Given the description of an element on the screen output the (x, y) to click on. 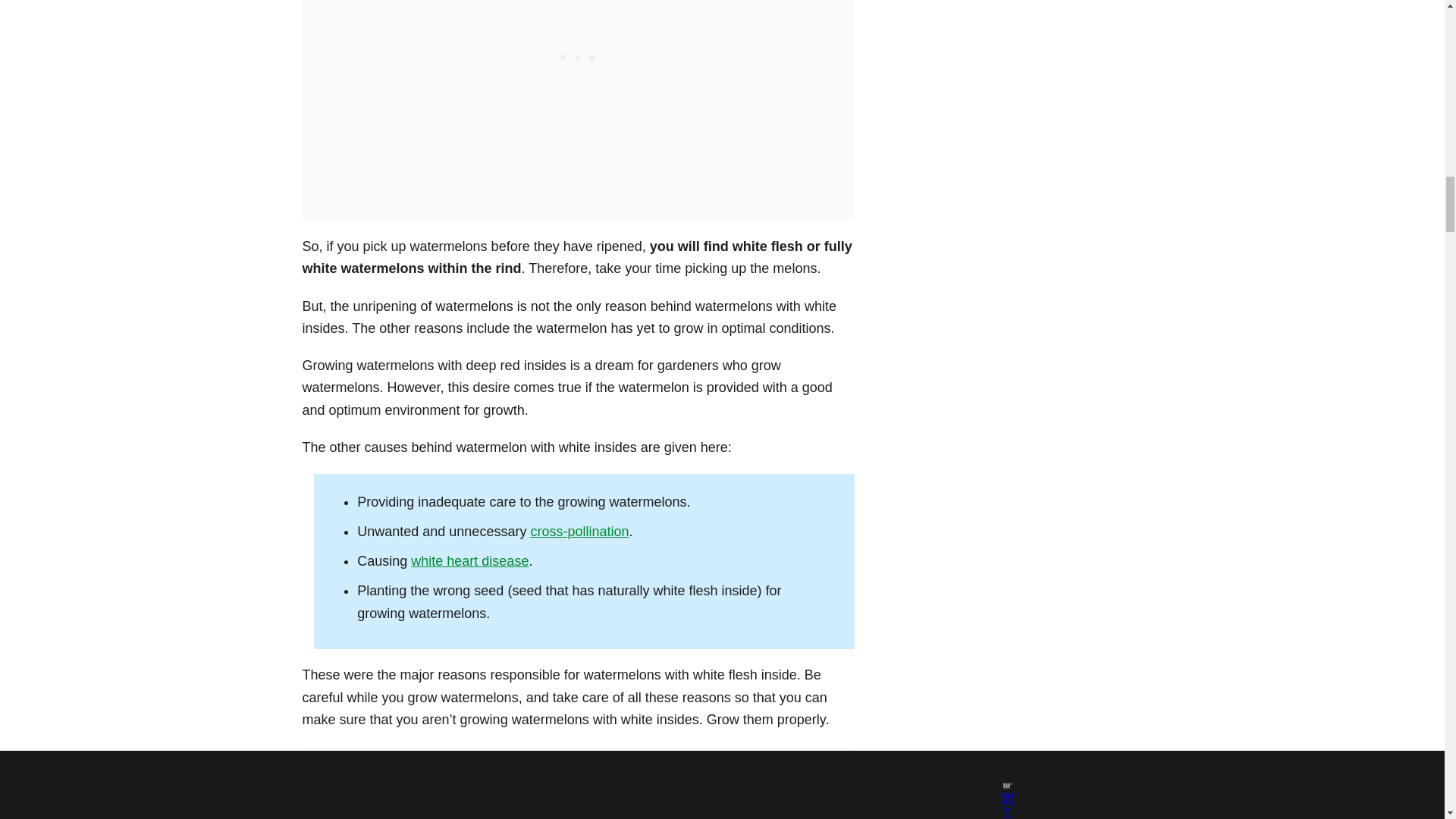
cross-pollination (578, 531)
white heart disease (469, 560)
